Given the description of an element on the screen output the (x, y) to click on. 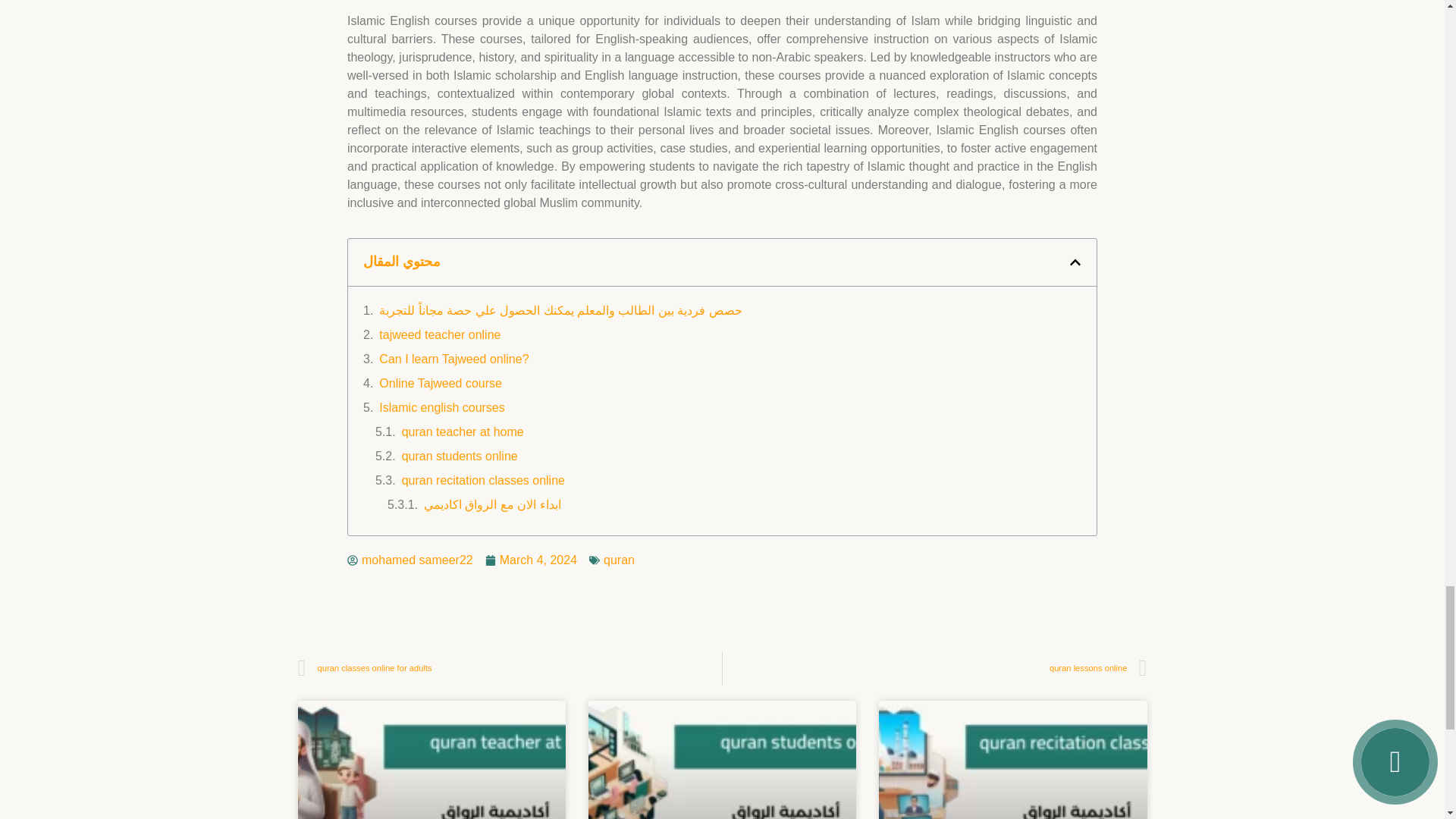
Online Tajweed course (440, 383)
quran students online (459, 456)
quran recitation classes online (482, 480)
mohamed sameer22 (410, 560)
Islamic english courses (440, 407)
quran teacher at home (462, 432)
quran classes online for adults (509, 668)
March 4, 2024 (530, 560)
quran (619, 559)
Can I learn Tajweed online? (453, 359)
tajweed teacher online (439, 334)
quran lessons online (934, 668)
